Given the description of an element on the screen output the (x, y) to click on. 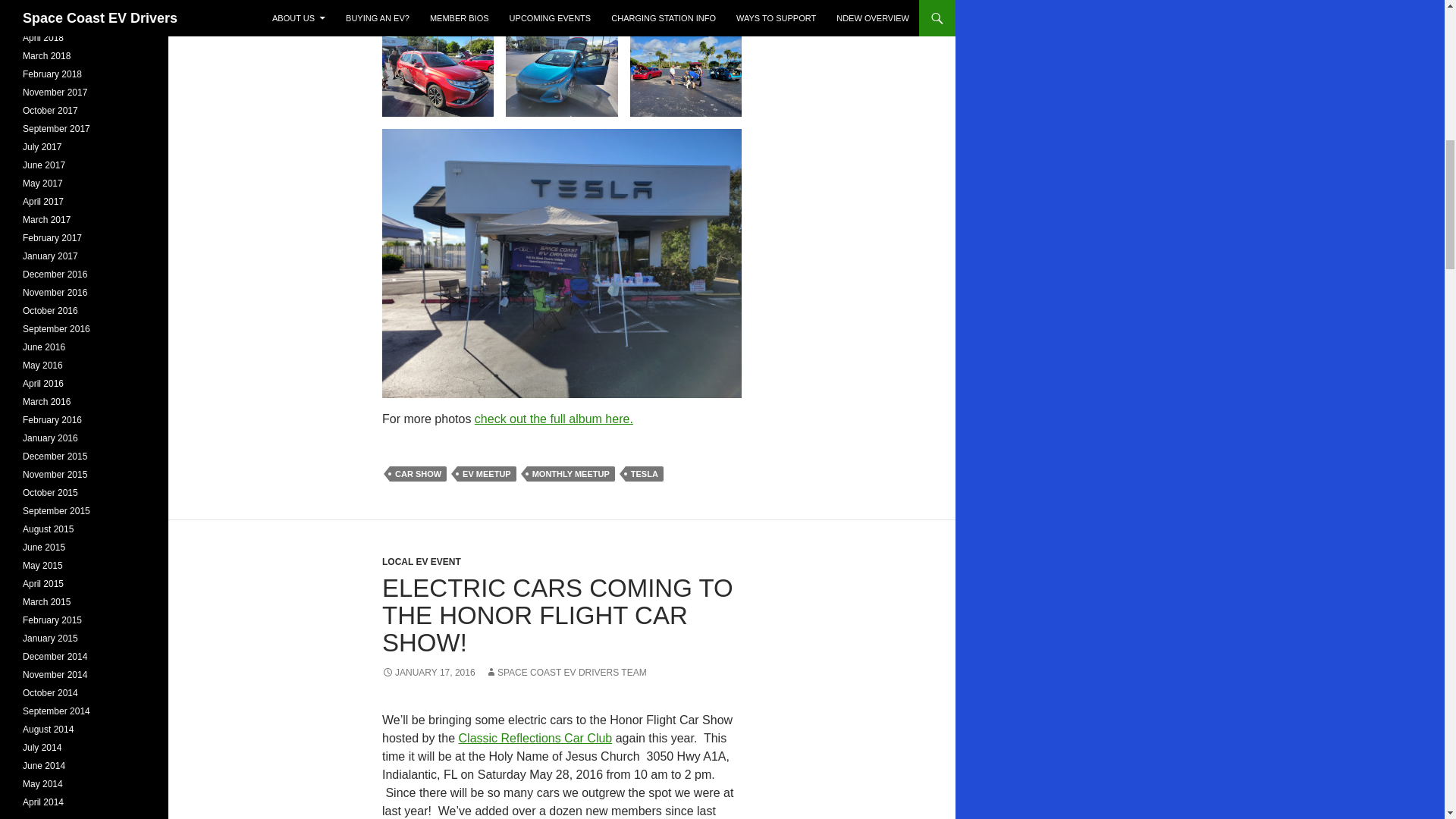
Classic Reflections Car Club (535, 738)
MONTHLY MEETUP (570, 473)
ELECTRIC CARS COMING TO THE HONOR FLIGHT CAR SHOW! (557, 615)
SPACE COAST EV DRIVERS TEAM (565, 672)
LOCAL EV EVENT (421, 561)
EV MEETUP (486, 473)
CAR SHOW (418, 473)
check out the full album here. (553, 418)
TESLA (644, 473)
JANUARY 17, 2016 (428, 672)
